Given the description of an element on the screen output the (x, y) to click on. 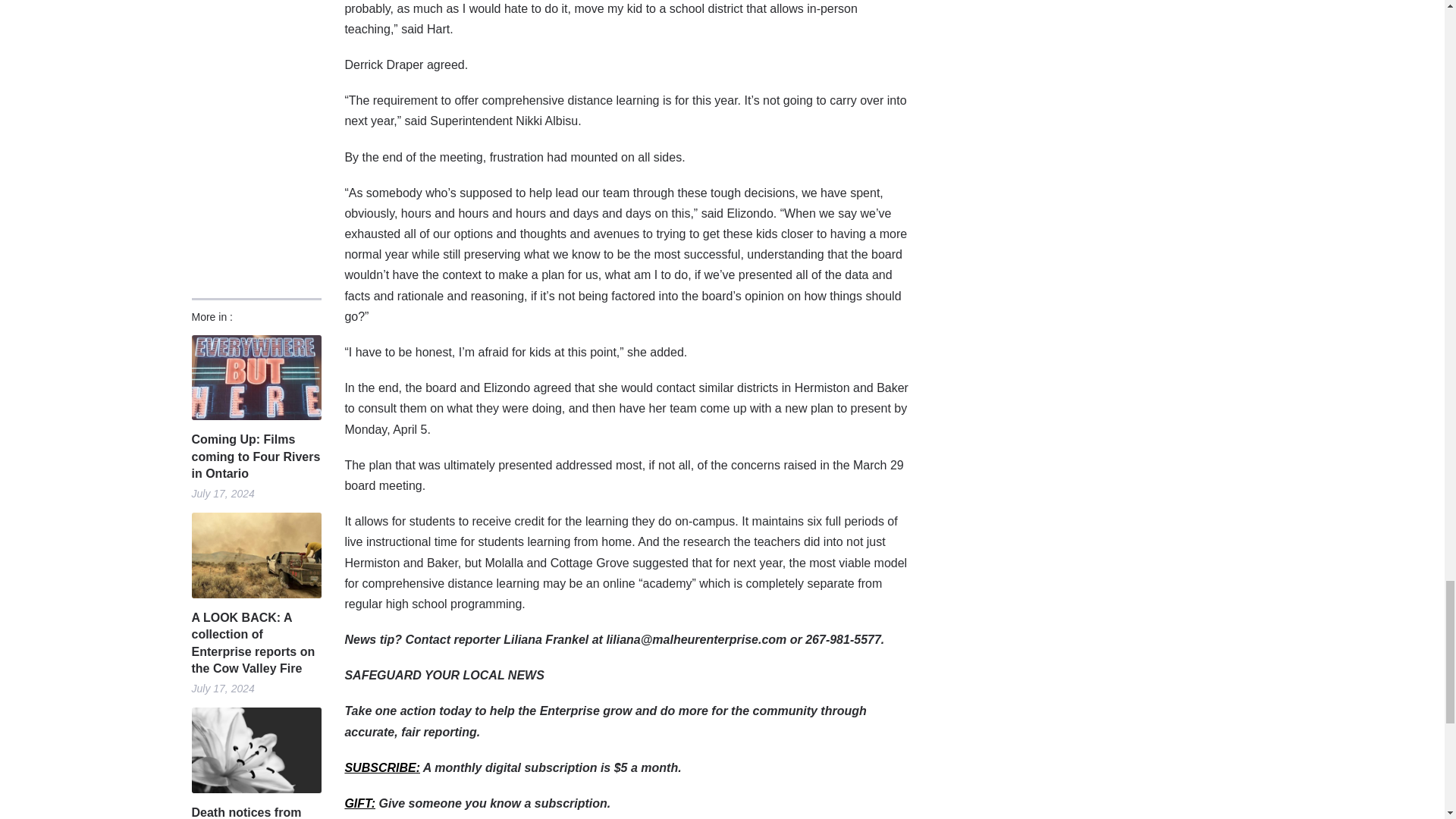
Permalink to Death notices from the Enterprise July 17, 2024 (255, 811)
Coming Up: Films coming to Four Rivers in Ontario (255, 456)
Death notices from the Enterprise July 17, 2024 (255, 811)
Permalink to Death notices from the Enterprise July 17, 2024 (255, 750)
